Given the description of an element on the screen output the (x, y) to click on. 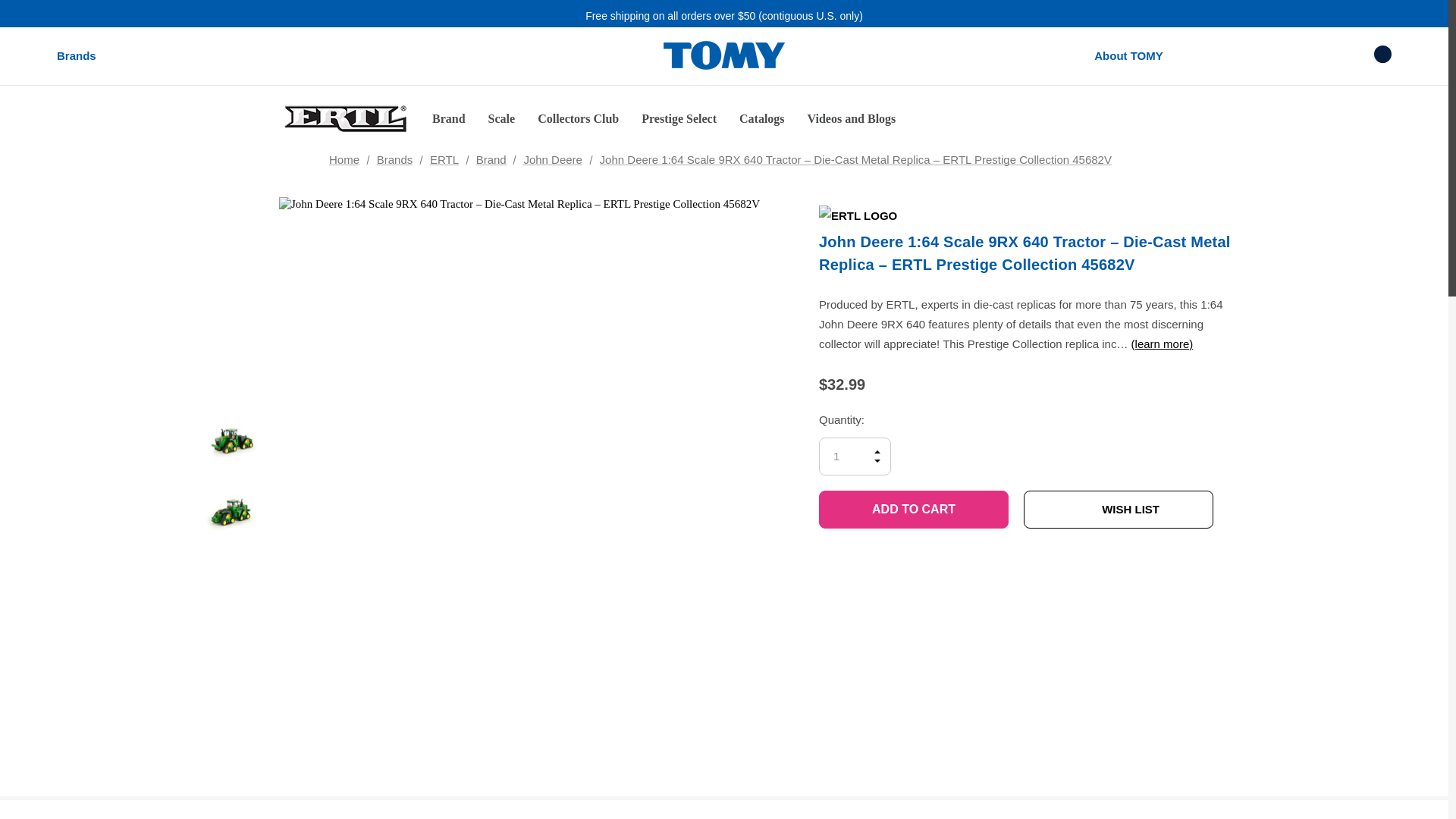
TOMY (723, 55)
1 (854, 509)
Brands (76, 56)
Add to Cart (913, 562)
Wish Lists Wish Lists (1325, 54)
